Given the description of an element on the screen output the (x, y) to click on. 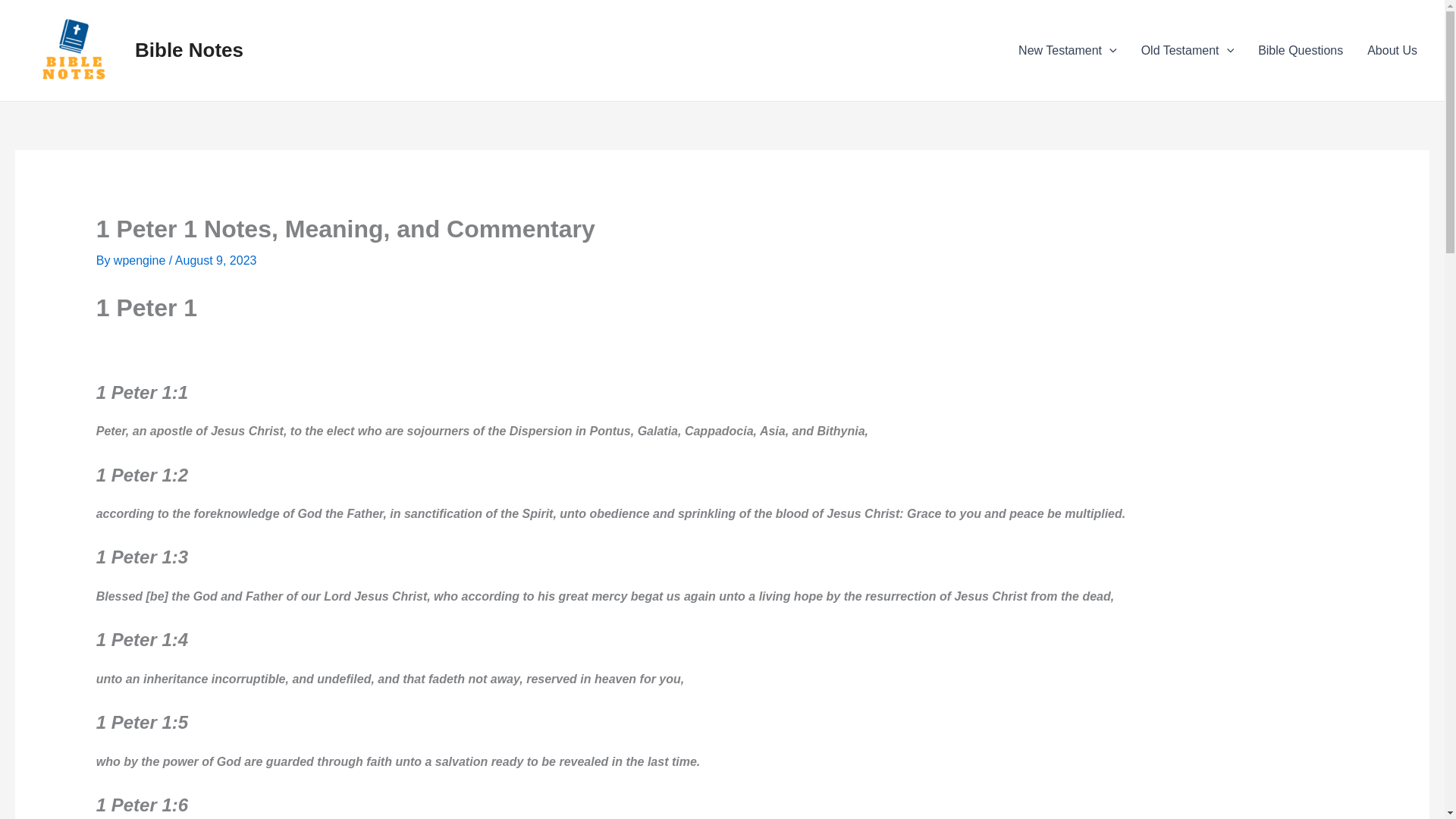
New Testament (1067, 49)
Bible Notes (189, 49)
Old Testament (1187, 49)
View all posts by wpengine (140, 259)
